Given the description of an element on the screen output the (x, y) to click on. 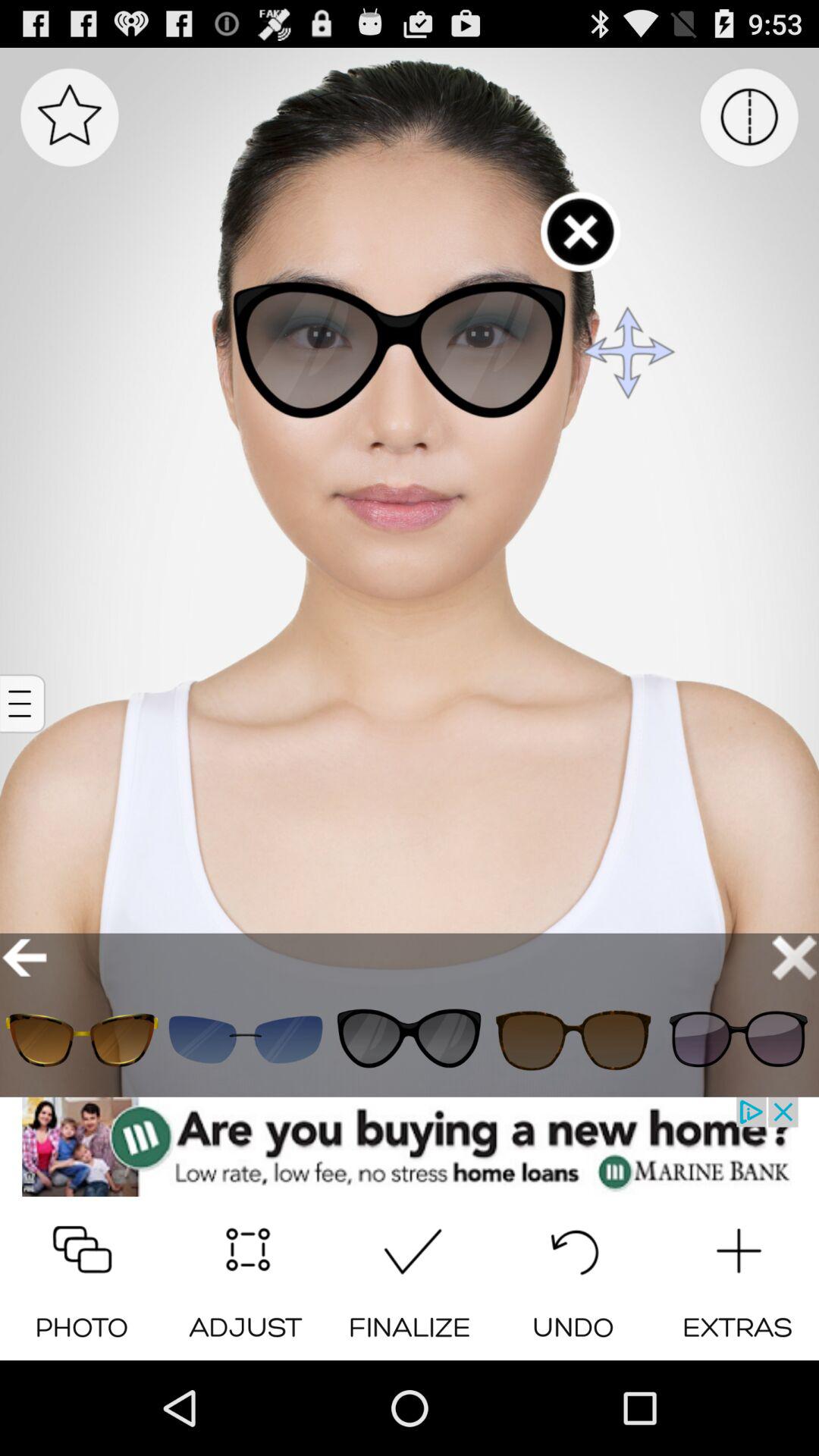
close button (794, 957)
